Given the description of an element on the screen output the (x, y) to click on. 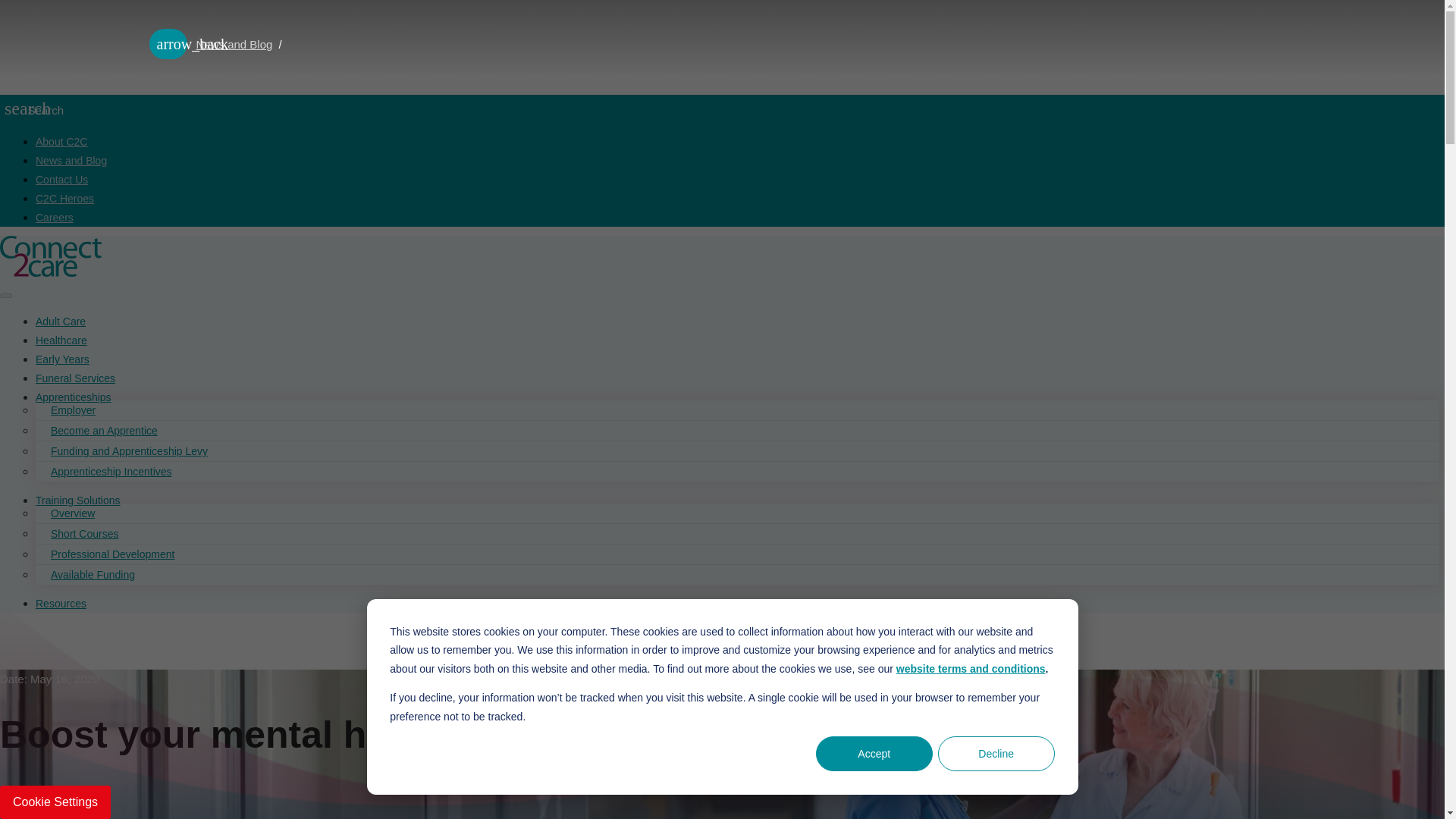
C2C Heroes (64, 198)
Training Solutions (77, 500)
Careers (54, 217)
About C2C (60, 141)
Cookie Settings (55, 802)
Healthcare (60, 340)
Contact Us (60, 179)
Employer (72, 409)
Early Years (61, 359)
search (11, 107)
Become an Apprentice (103, 430)
News and Blog (233, 43)
Professional Development (111, 553)
Funeral Services (74, 378)
Short Courses (83, 533)
